Given the description of an element on the screen output the (x, y) to click on. 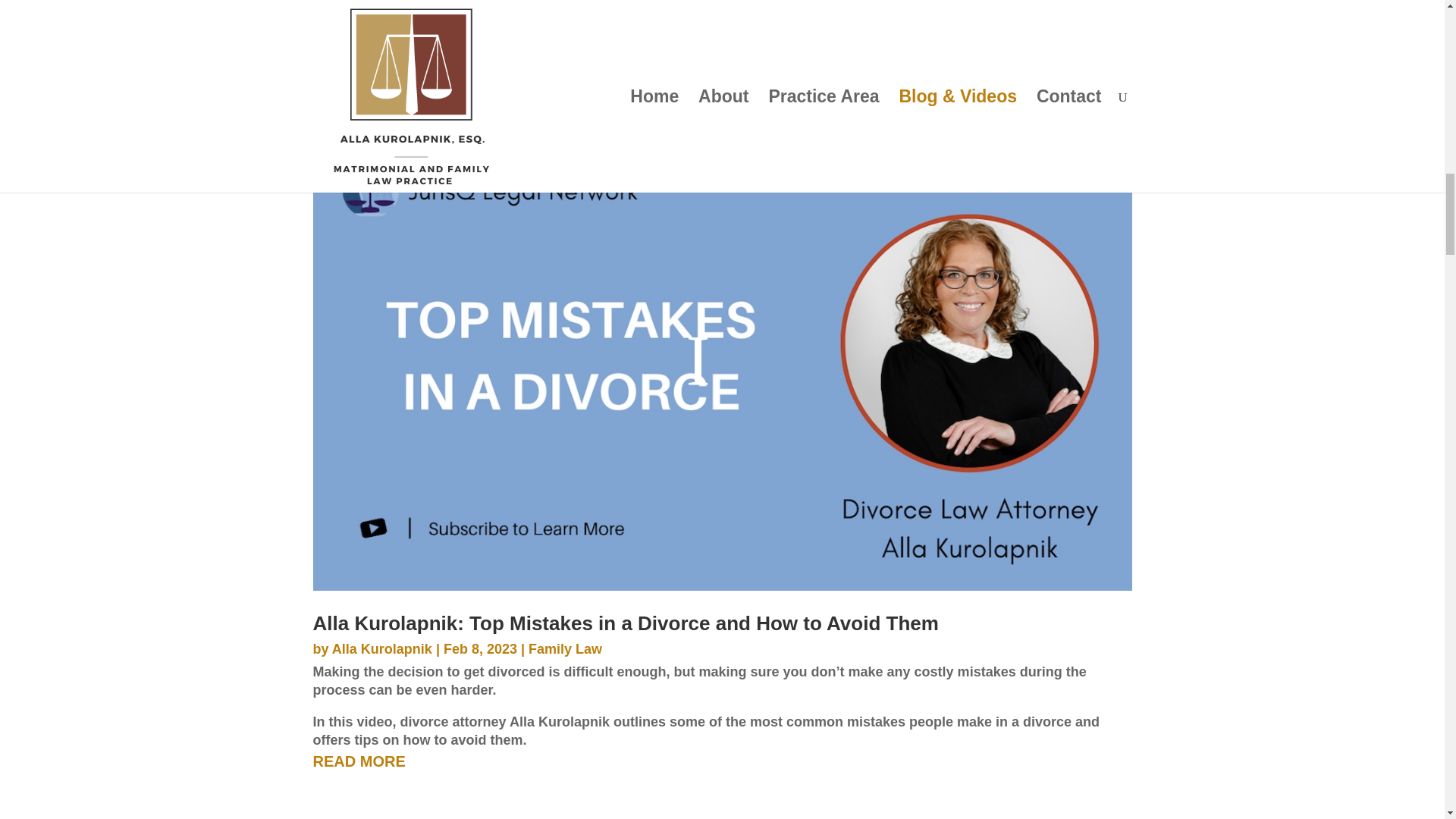
READ MORE (722, 761)
READ MORE (722, 71)
Alla Kurolapnik (381, 648)
Posts by Alla Kurolapnik (381, 648)
Family Law (565, 648)
